Given the description of an element on the screen output the (x, y) to click on. 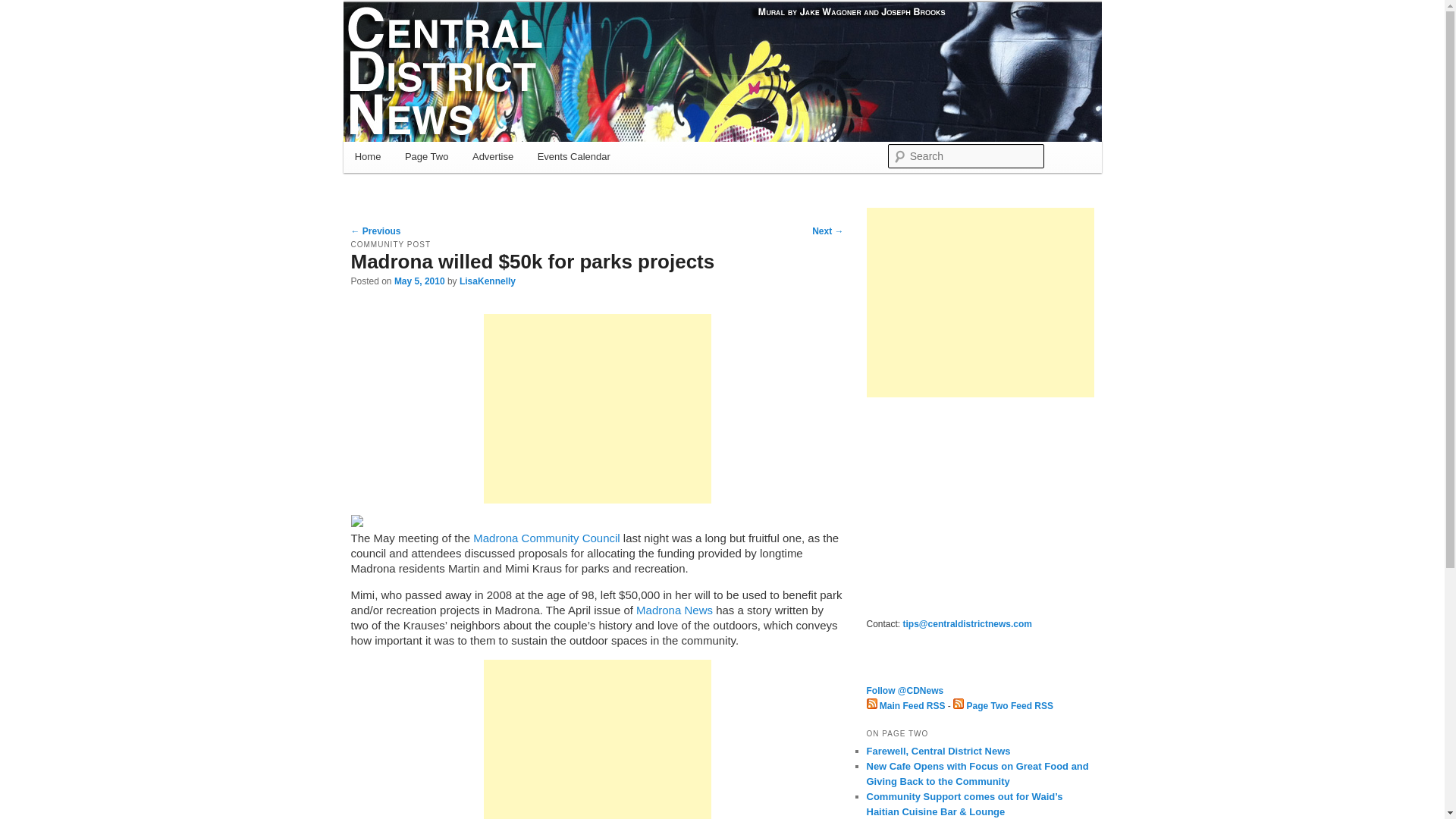
LisaKennelly (487, 281)
Advertisement (597, 739)
Events Calendar (574, 156)
Page Two Feed RSS (1002, 706)
May 5, 2010 (419, 281)
View all posts by LisaKennelly (487, 281)
Skip to secondary content (429, 159)
Skip to primary content (422, 159)
Madrona Community Council (546, 537)
Central District News (464, 57)
Search (24, 8)
Main Feed RSS (905, 706)
Farewell, Central District News (938, 750)
Madrona News (674, 609)
Advertisement (597, 408)
